Given the description of an element on the screen output the (x, y) to click on. 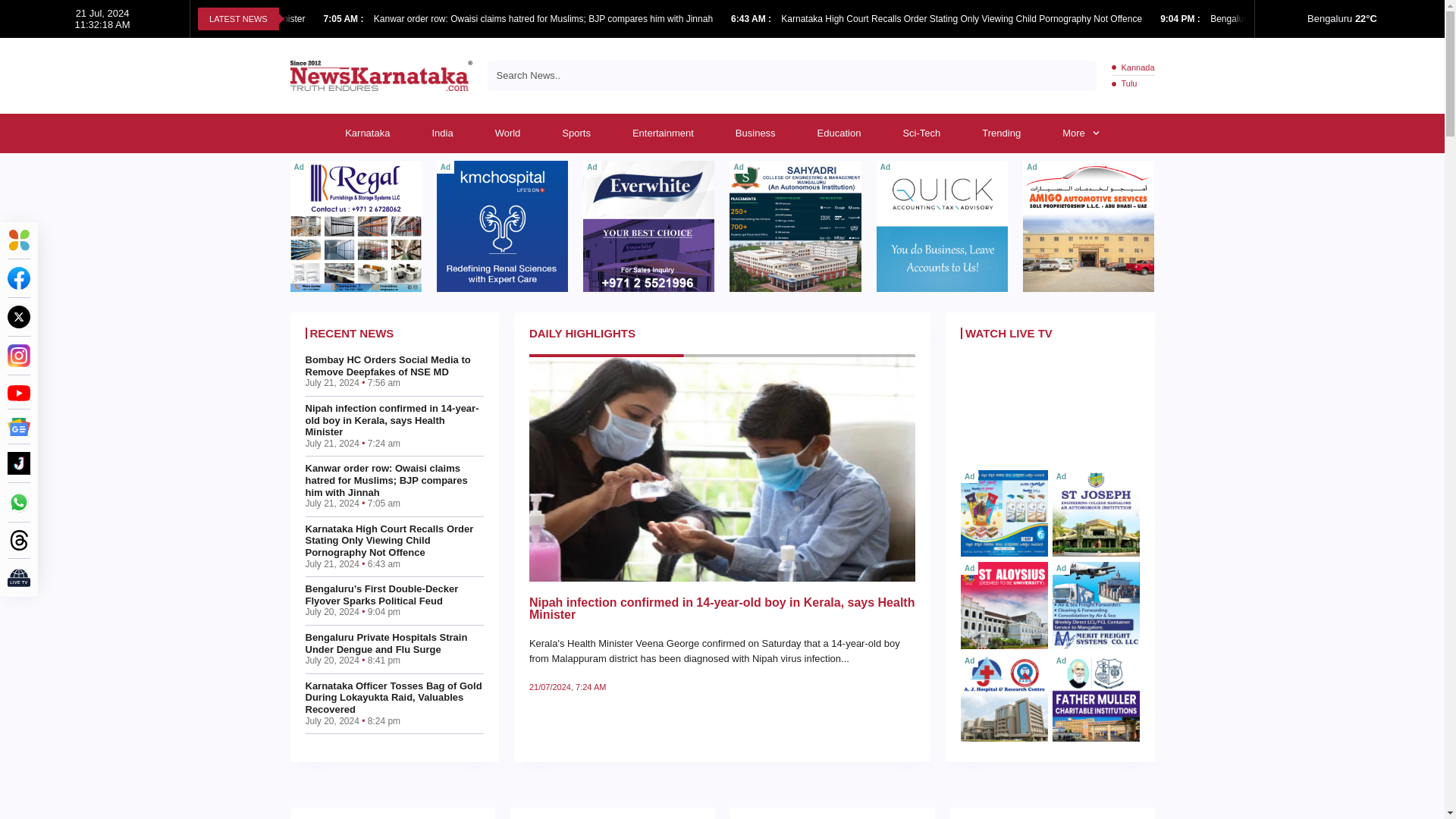
Published on: July 21, 2024 6:43 am (751, 18)
Published on: July 21, 2024 7:05 am (344, 18)
Published on: July 20, 2024 9:04 pm (1181, 18)
